Given the description of an element on the screen output the (x, y) to click on. 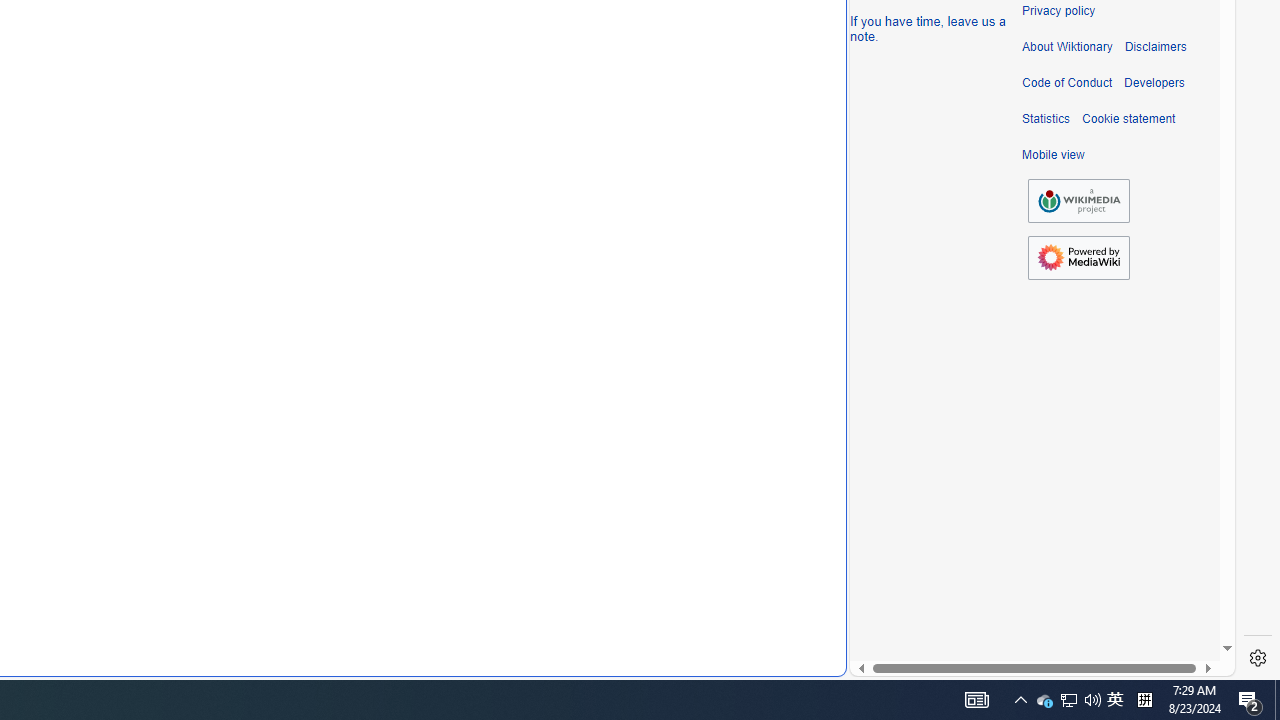
Privacy policy (1058, 11)
Powered by MediaWiki (1078, 257)
Statistics (1046, 119)
Mobile view (1053, 155)
Cookie statement (1128, 119)
Mobile view (1053, 155)
Code of Conduct (1067, 83)
Disclaimers (1154, 47)
